Given the description of an element on the screen output the (x, y) to click on. 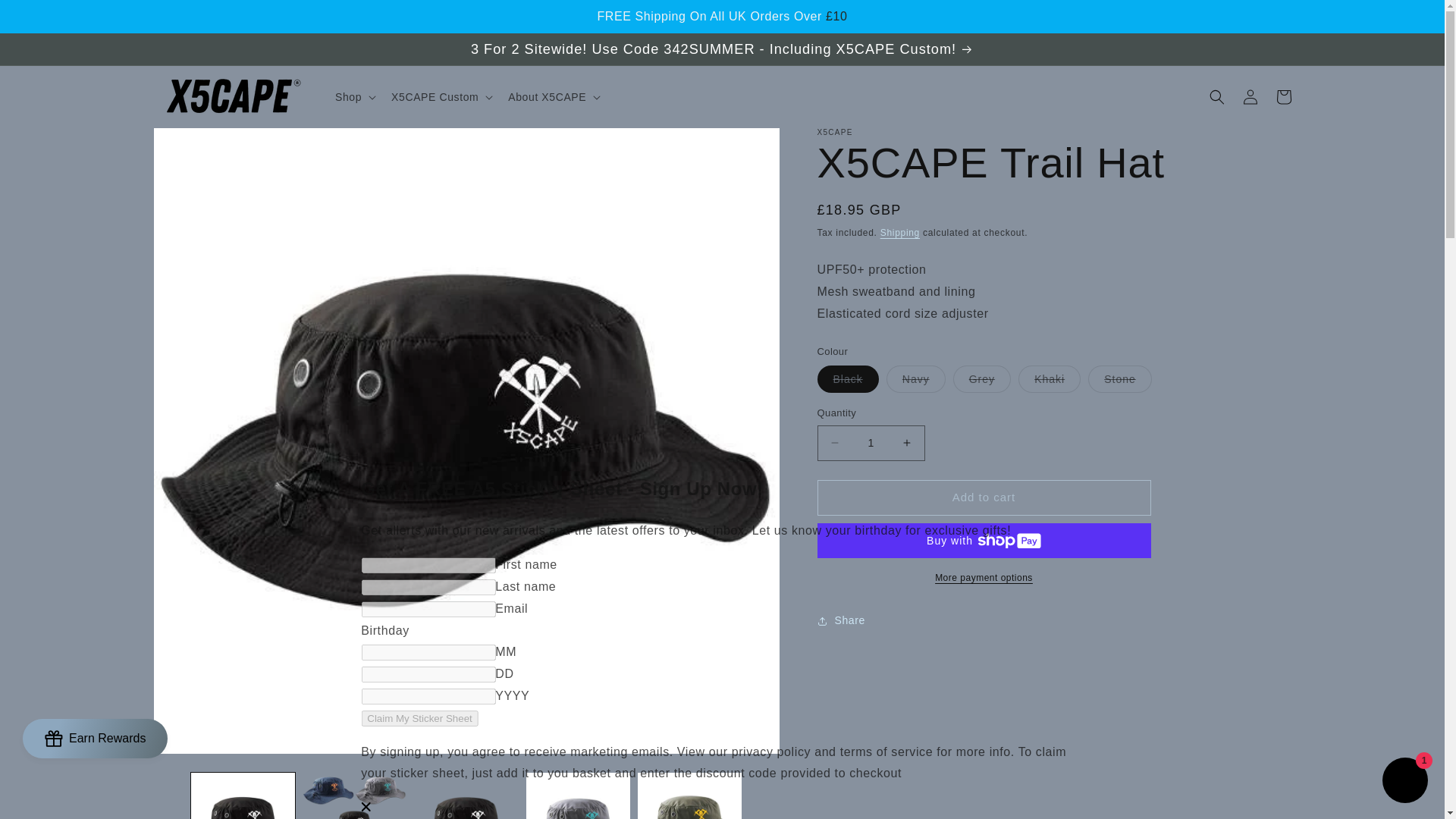
Shopify online store chat (1404, 781)
1 (870, 443)
Skip to content (45, 17)
